Given the description of an element on the screen output the (x, y) to click on. 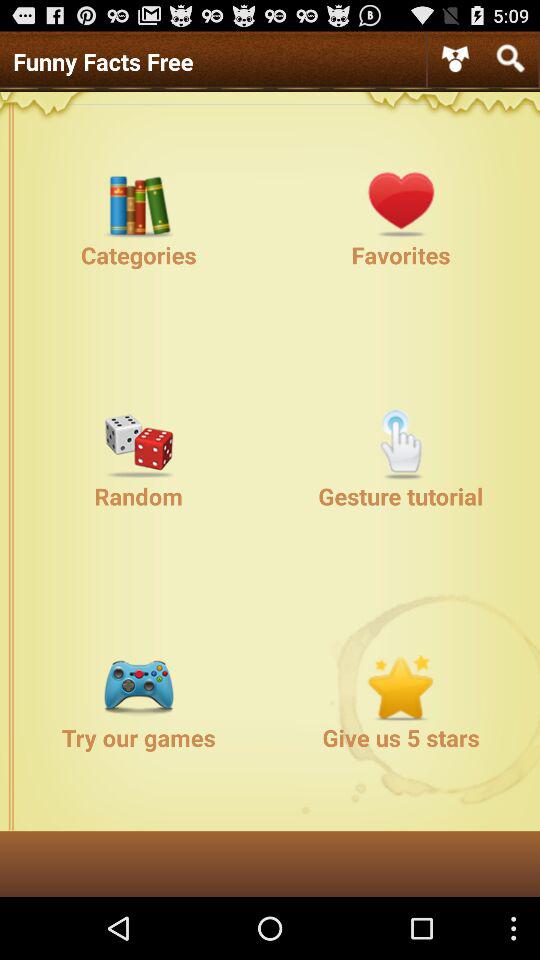
open search bar (510, 58)
